Given the description of an element on the screen output the (x, y) to click on. 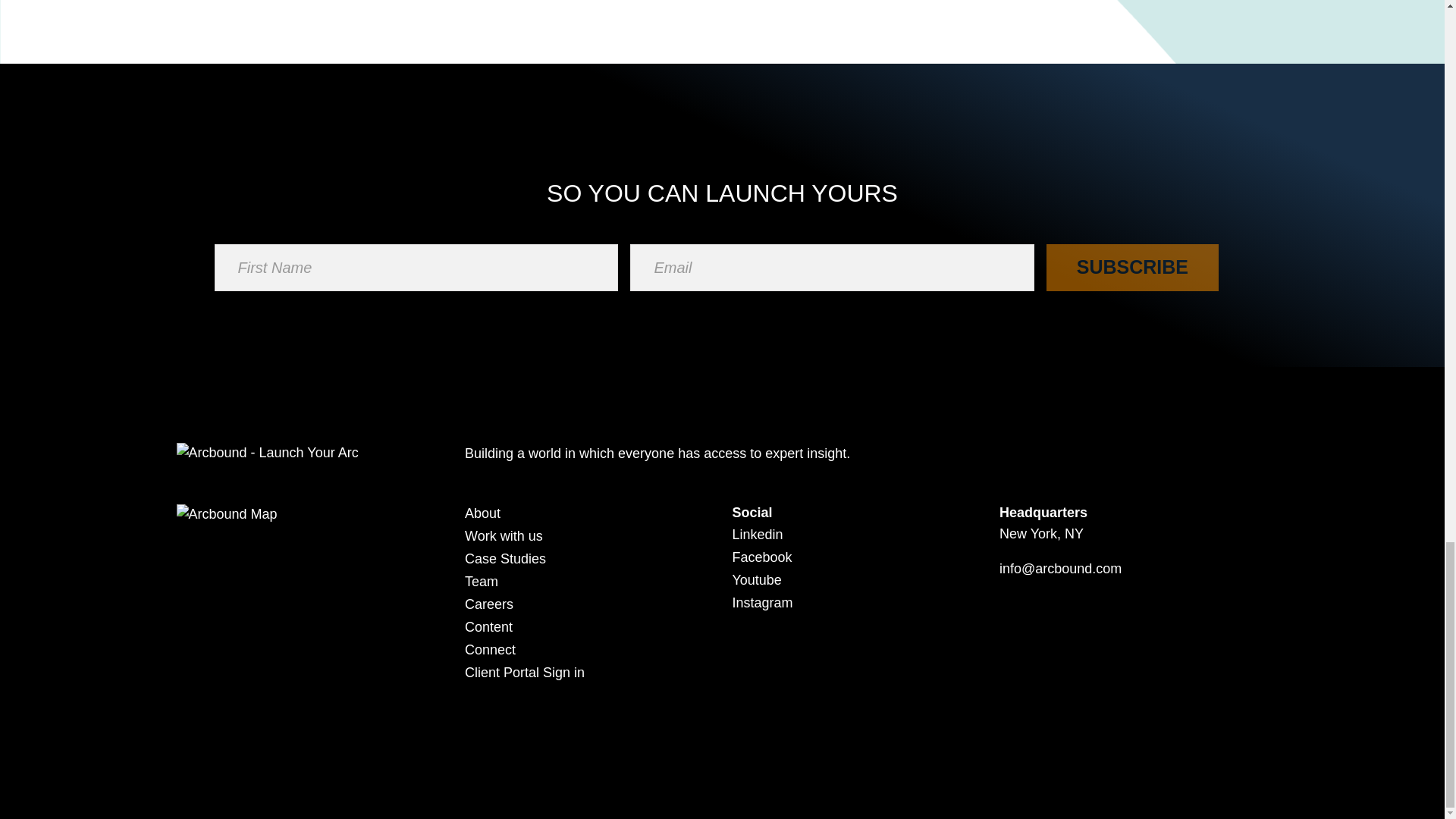
Subscribe (1131, 267)
Subscribe (1131, 267)
Work with us (503, 535)
Case Studies (505, 558)
Team (480, 581)
About (482, 513)
